Given the description of an element on the screen output the (x, y) to click on. 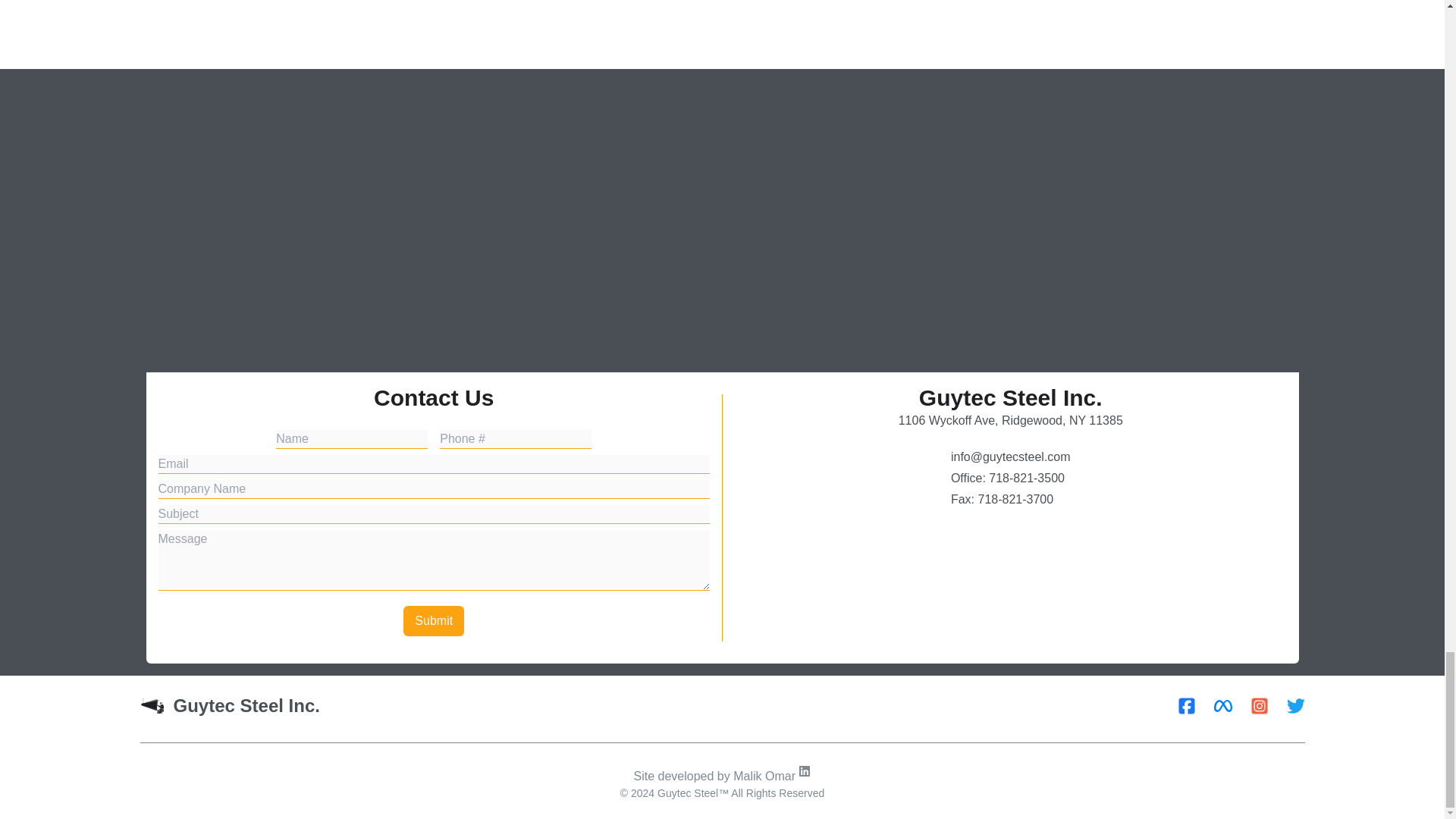
718-821-3500 (1026, 477)
Malik Omar (771, 775)
718-821-3700 (1014, 499)
Guytec Steel Inc. (228, 705)
Submit (433, 621)
